Given the description of an element on the screen output the (x, y) to click on. 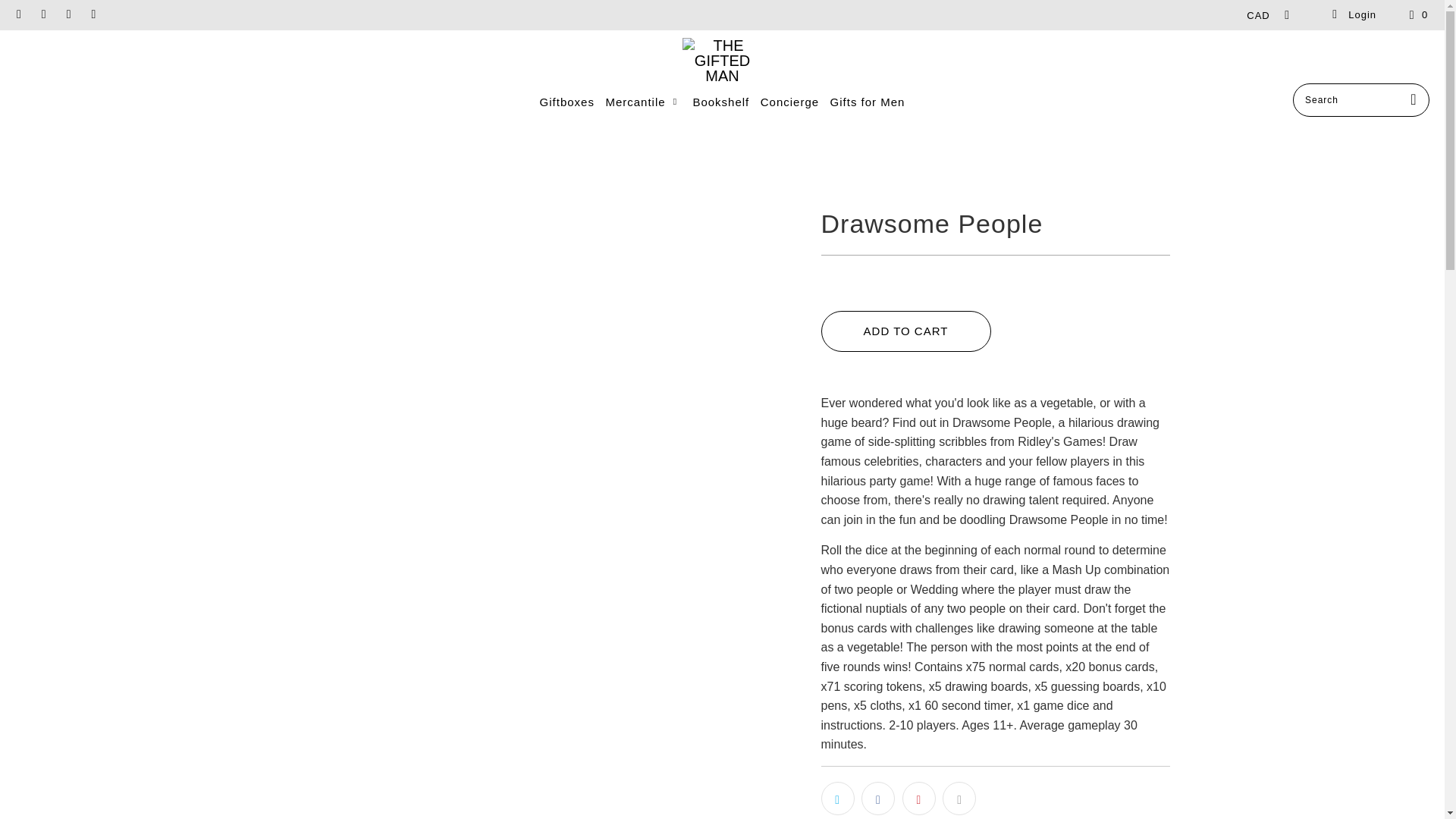
Bookshelf (721, 102)
Giftboxes (567, 102)
Mercantile (643, 102)
The Gifted Man on Facebook (17, 14)
Share this on Facebook (878, 798)
Share this on Twitter (837, 798)
Share this on Pinterest (919, 798)
My Account  (1353, 15)
Gifts for Men (867, 102)
The Gifted Man (721, 60)
Concierge (789, 102)
Email The Gifted Man (92, 14)
CAD (1263, 15)
Email this to a friend (958, 798)
The Gifted Man on Pinterest (42, 14)
